Given the description of an element on the screen output the (x, y) to click on. 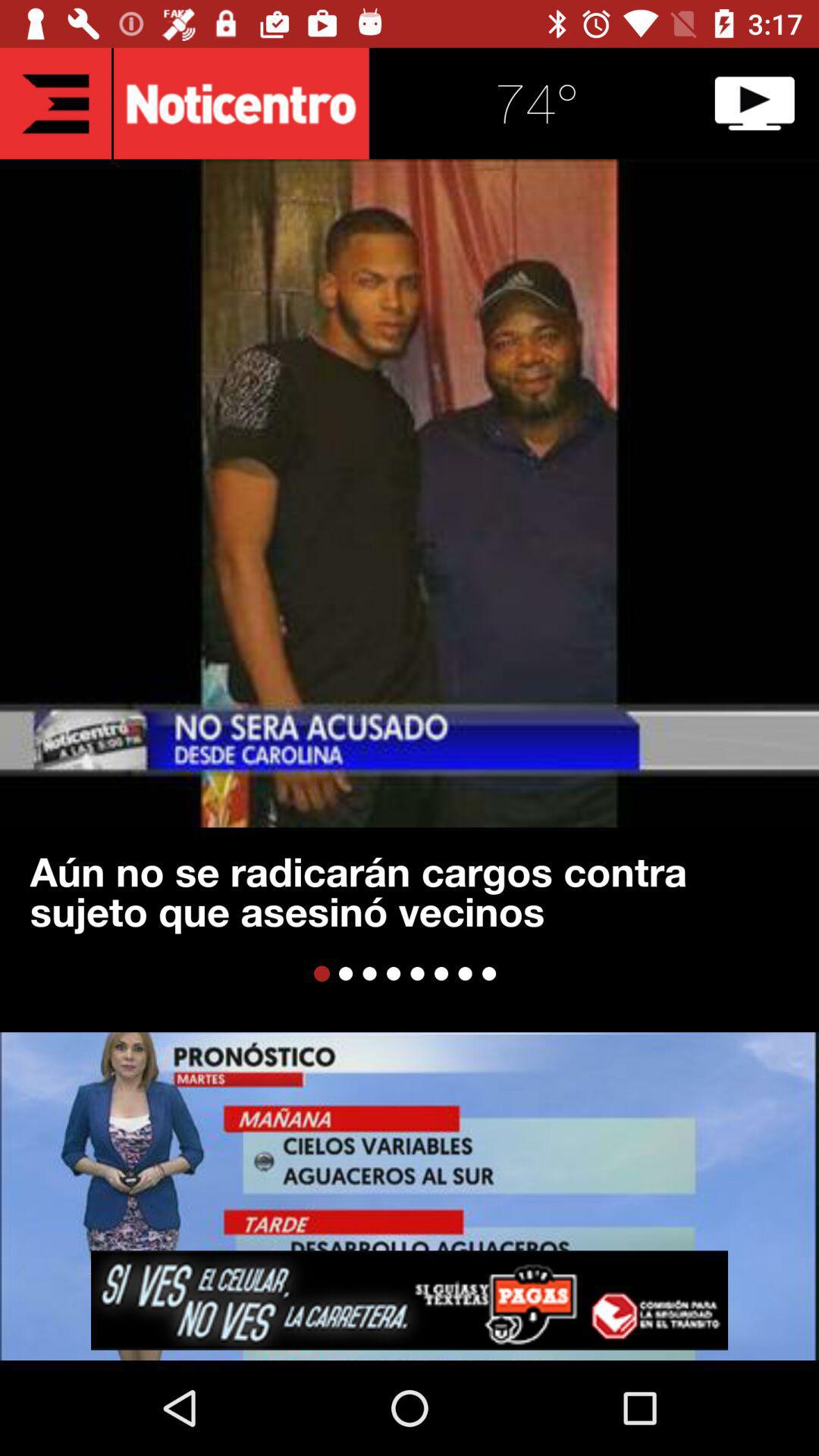
click to video icon (754, 103)
